Given the description of an element on the screen output the (x, y) to click on. 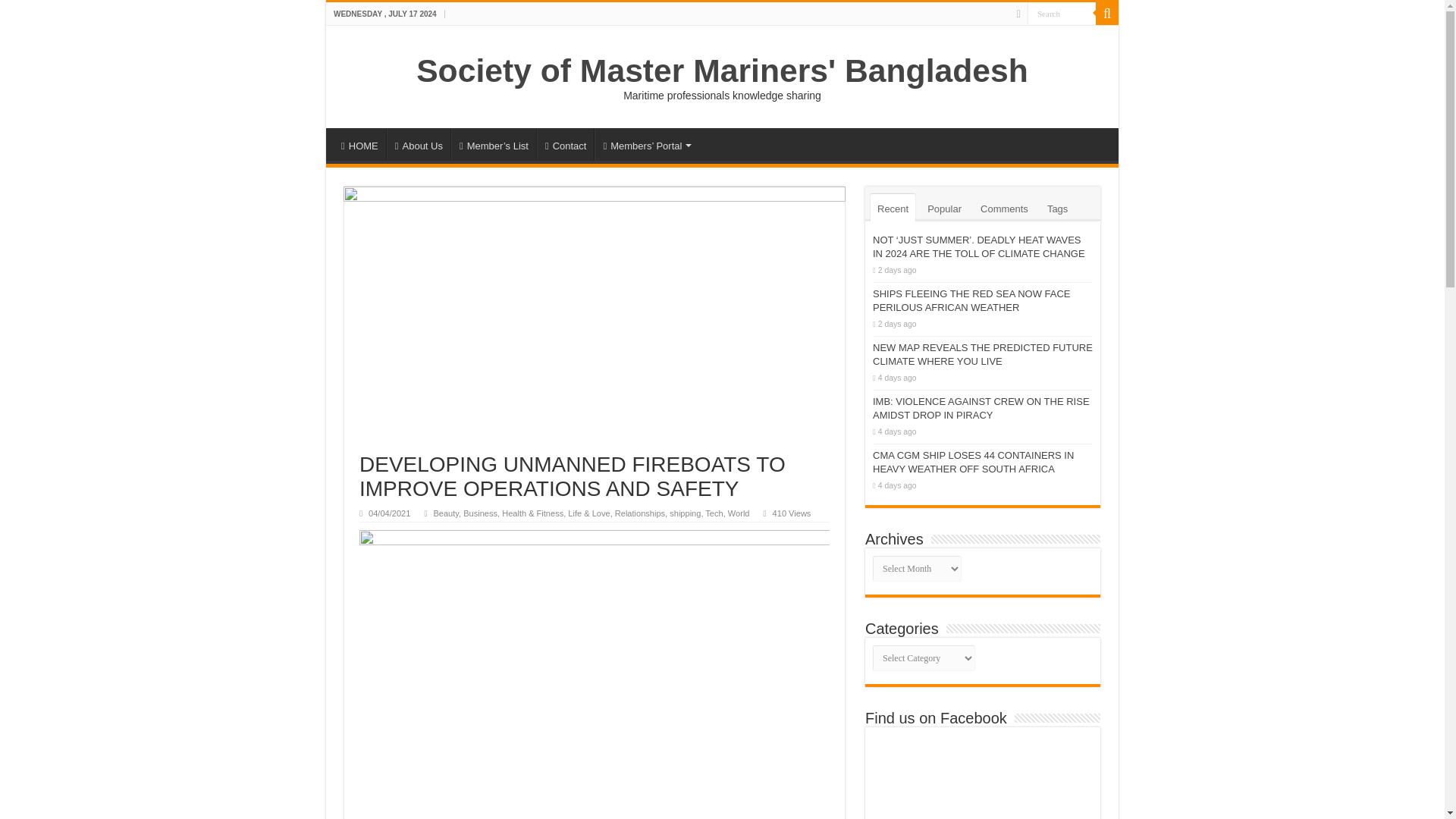
Popular (944, 207)
Search (1061, 13)
shipping (684, 512)
Recent (892, 207)
Tech (713, 512)
Society of Master Mariners' Bangladesh (721, 70)
World (738, 512)
About Us (418, 143)
Relationships (639, 512)
Search (1061, 13)
Business (480, 512)
Search (1061, 13)
Beauty (445, 512)
Search (1107, 13)
Contact (565, 143)
